Given the description of an element on the screen output the (x, y) to click on. 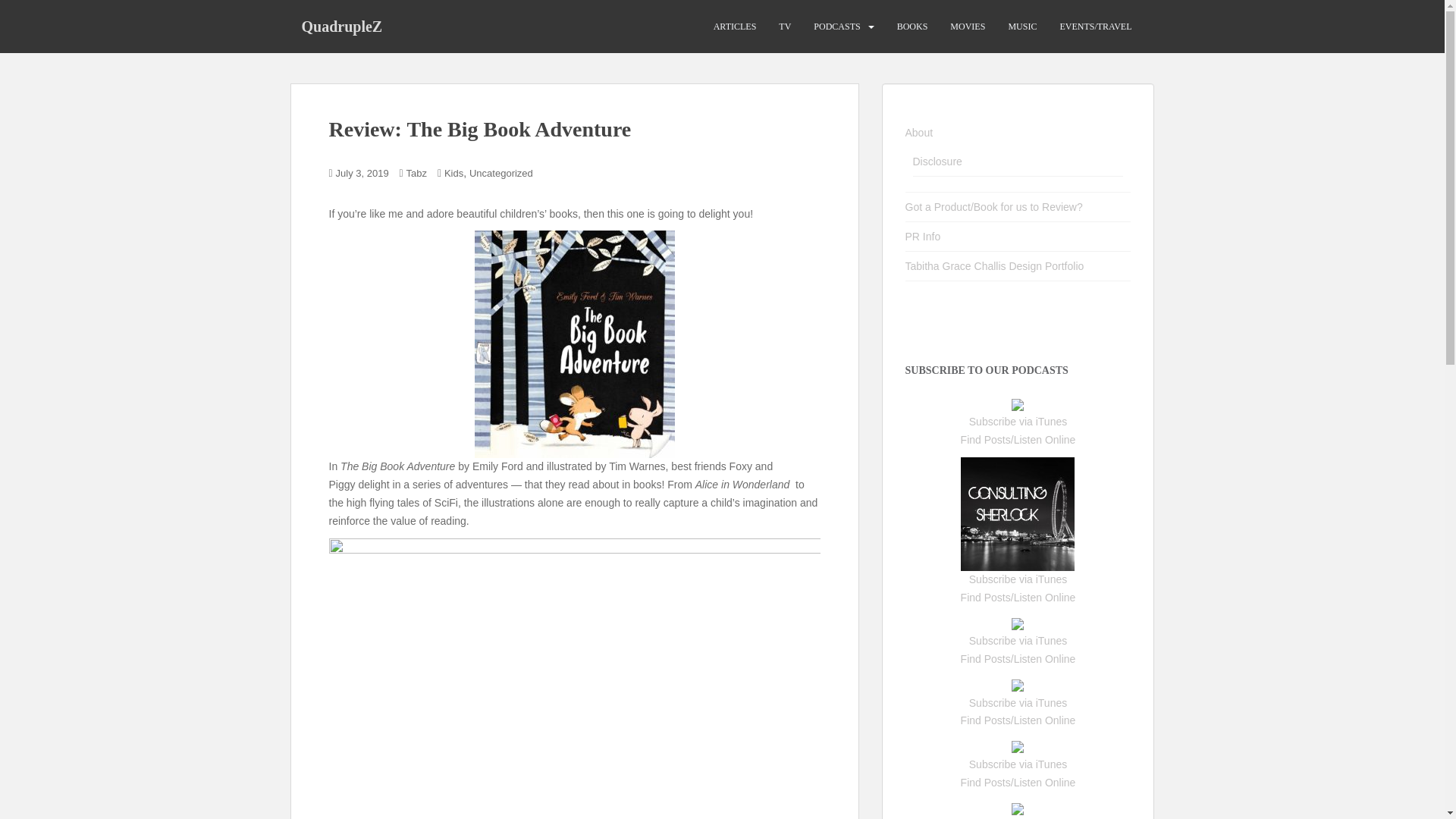
MUSIC (1021, 26)
Subscribe via iTunes (1018, 421)
Tabitha Grace Challis Design Portfolio (994, 265)
Disclosure (937, 161)
About (919, 132)
PODCASTS (836, 26)
BOOKS (912, 26)
Tabz (416, 173)
ARTICLES (735, 26)
Kids (453, 173)
July 3, 2019 (362, 173)
MOVIES (967, 26)
QuadrupleZ (341, 26)
Uncategorized (500, 173)
QuadrupleZ (341, 26)
